Given the description of an element on the screen output the (x, y) to click on. 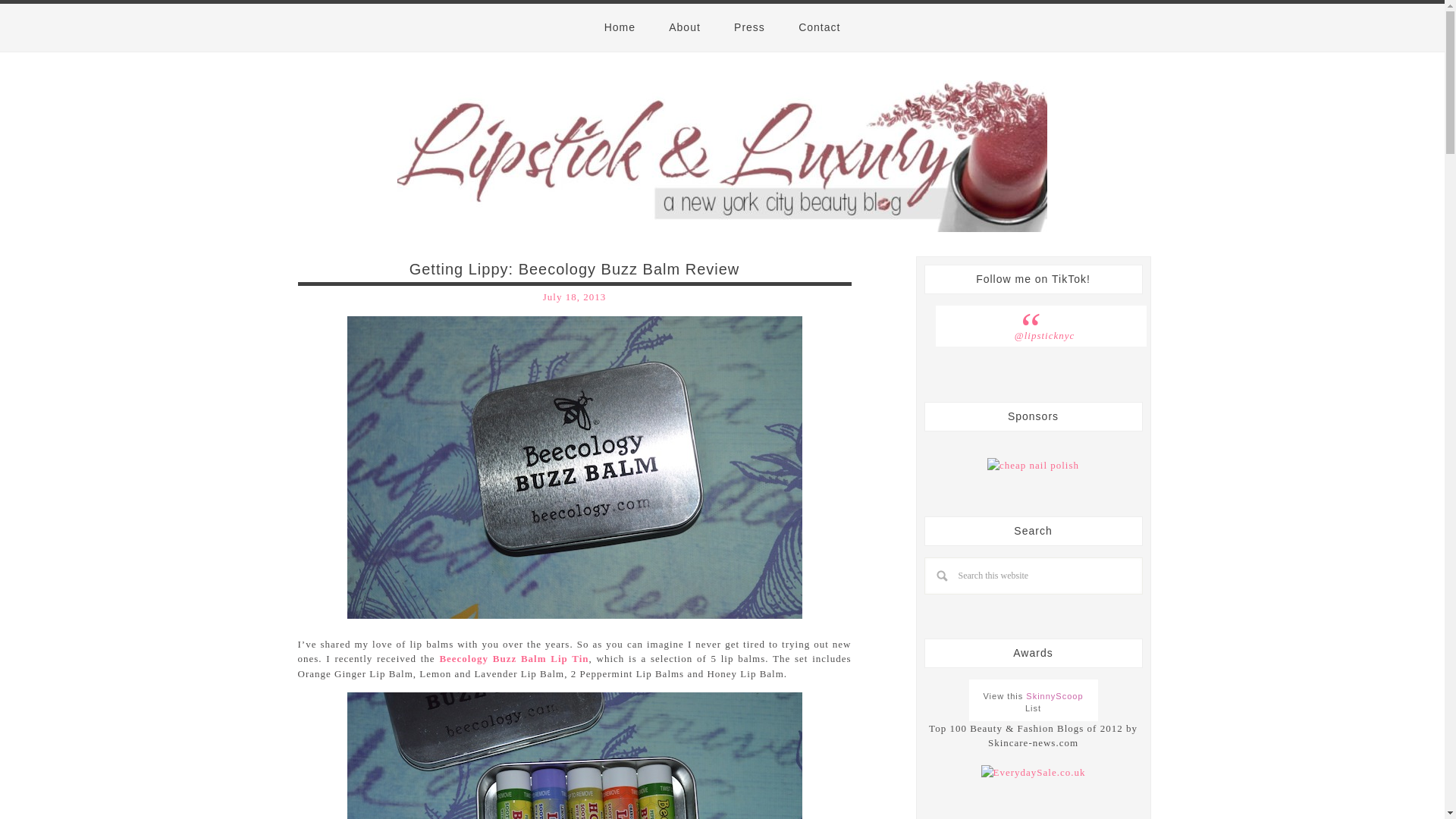
Beecology Buzz Balm Lip Tin (513, 658)
Contact (819, 27)
Getting Lippy: Beecology Buzz Balm Review (574, 269)
About (684, 27)
DHgate has nail art supplies for sale (1032, 465)
Home (619, 27)
Beecology Buzz Balm Lip Tin (513, 658)
Press (749, 27)
